Given the description of an element on the screen output the (x, y) to click on. 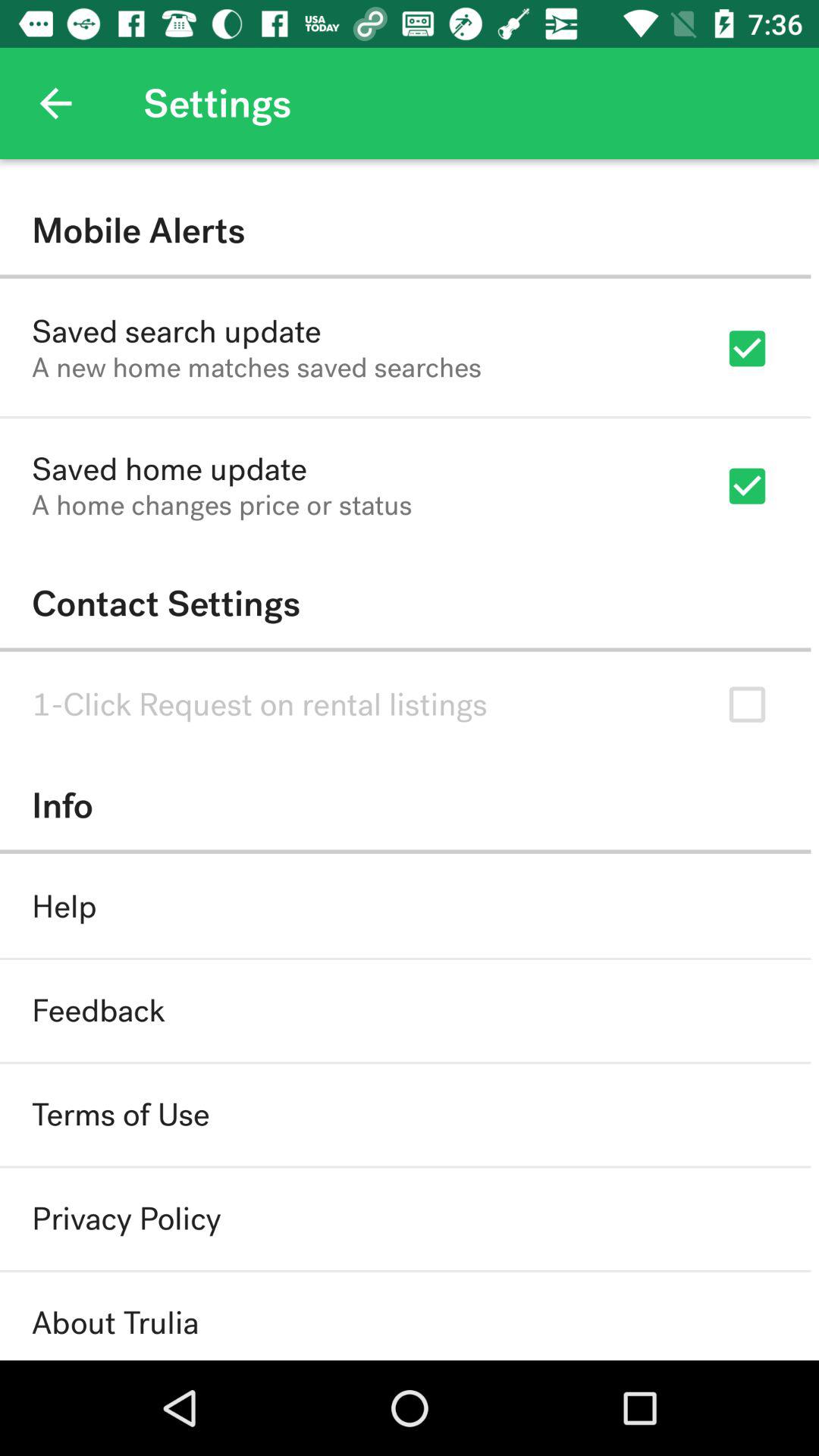
turn on icon below the feedback (120, 1114)
